Given the description of an element on the screen output the (x, y) to click on. 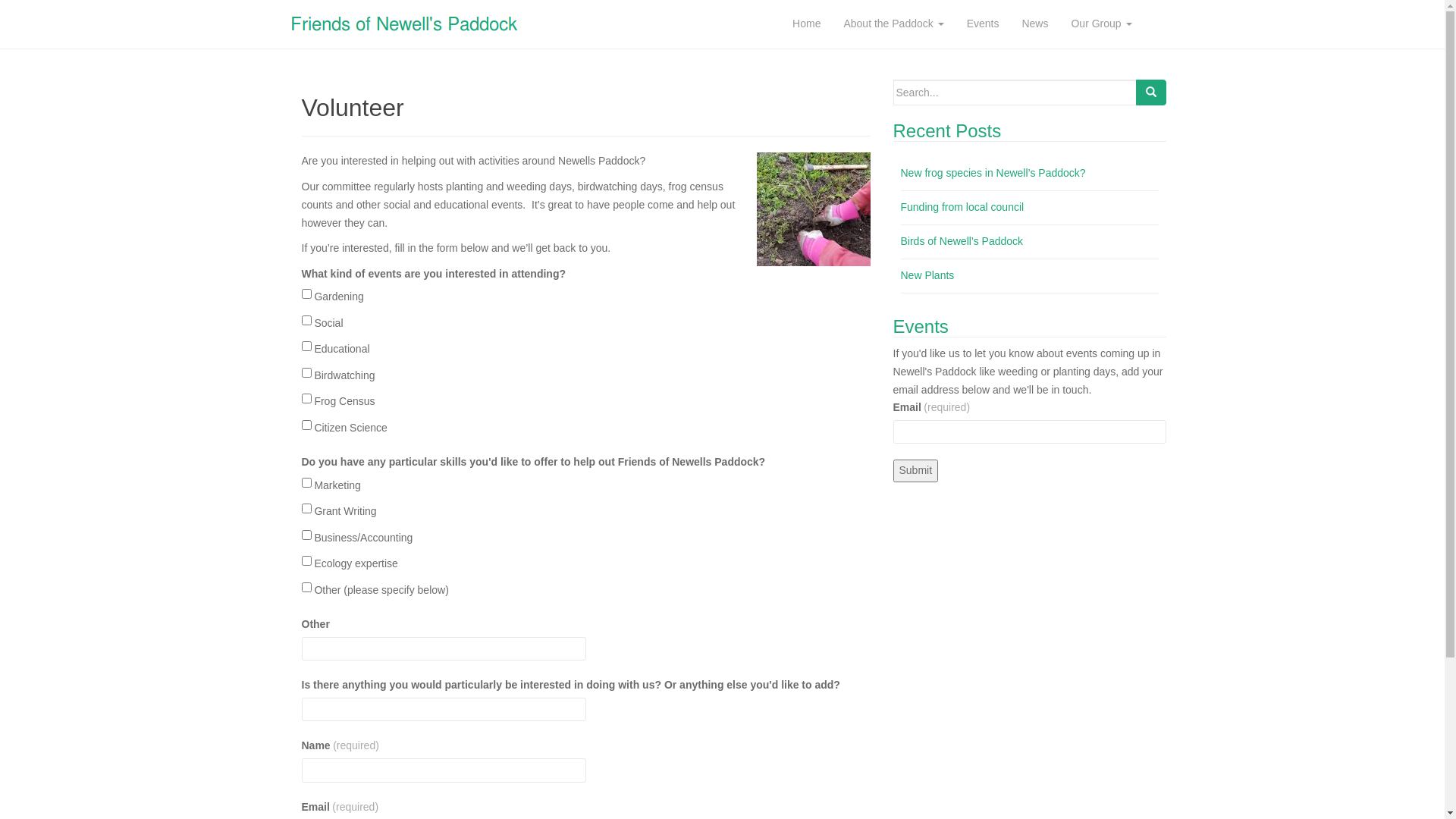
New Plants Element type: text (927, 275)
Search Element type: text (1150, 92)
Funding from local council Element type: text (962, 206)
Submit Element type: text (915, 470)
